Given the description of an element on the screen output the (x, y) to click on. 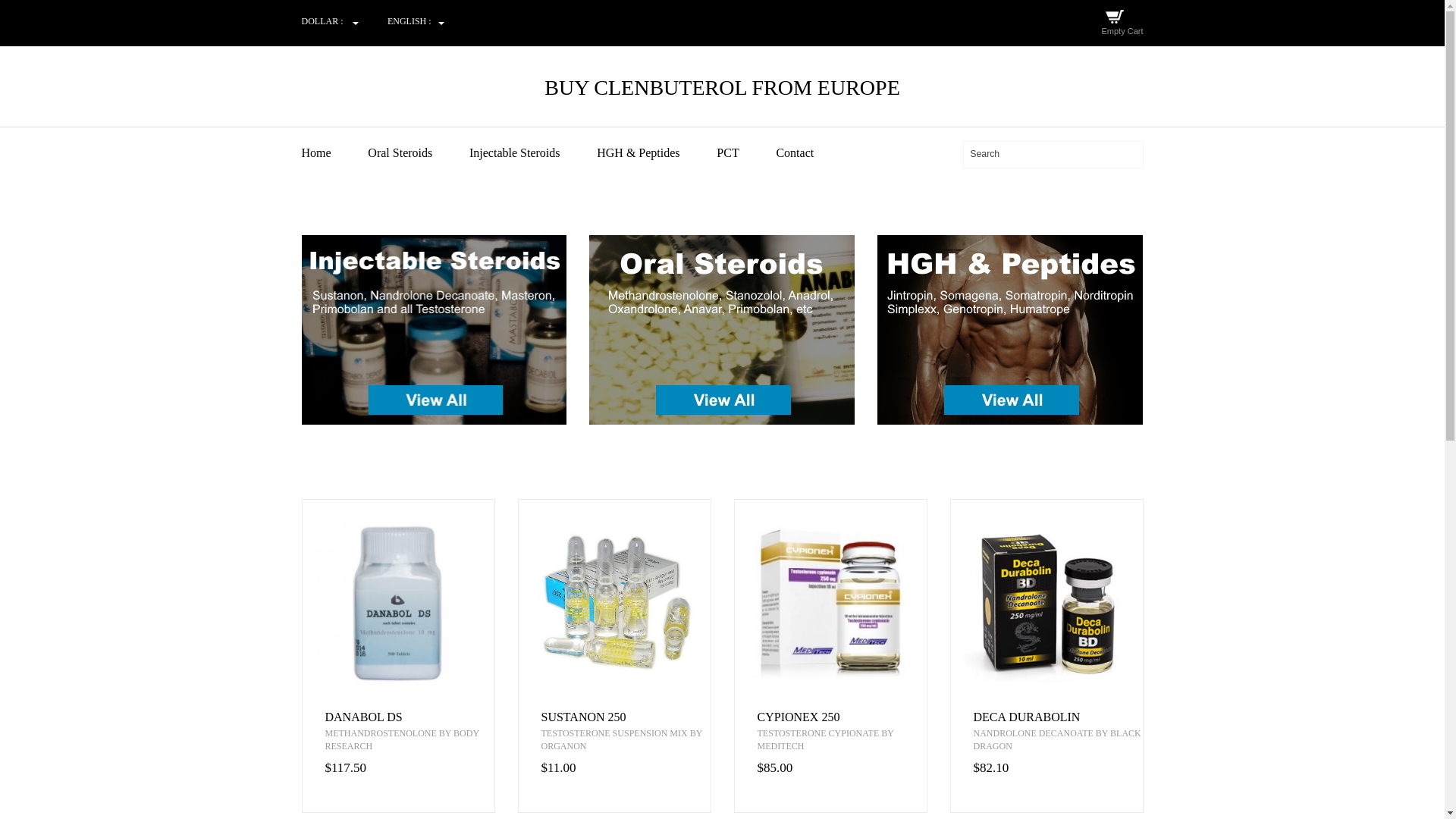
Search (1052, 153)
SUSTANON 250 (625, 716)
Oral Steroids (416, 153)
PCT (744, 153)
DECA DURABOLIN (1058, 716)
Home (333, 153)
Contact (811, 153)
Empty Cart (1121, 31)
Injectable Steroids (531, 153)
DANABOL DS (408, 716)
CYPIONEX 250 (841, 716)
